Given the description of an element on the screen output the (x, y) to click on. 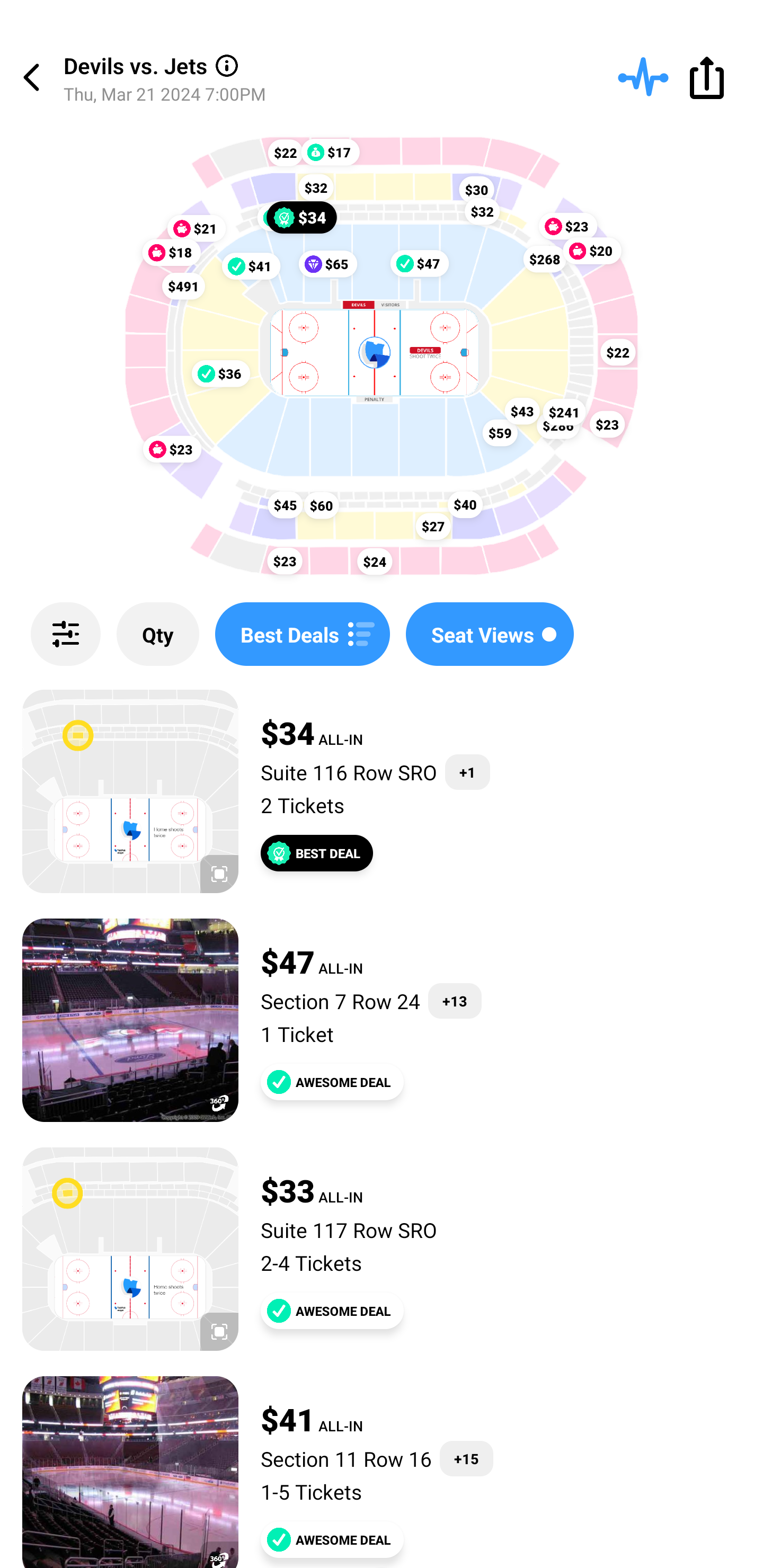
$47 (419, 263)
$65 (328, 263)
$41 (251, 265)
$43 (522, 411)
$59 (499, 432)
Qty (157, 634)
Best Deals (302, 634)
Seat Views (489, 634)
+1 (466, 772)
BEST DEAL (316, 852)
+13 (454, 1001)
AWESOME DEAL (331, 1081)
AWESOME DEAL (331, 1310)
+15 (466, 1458)
AWESOME DEAL (331, 1539)
